Given the description of an element on the screen output the (x, y) to click on. 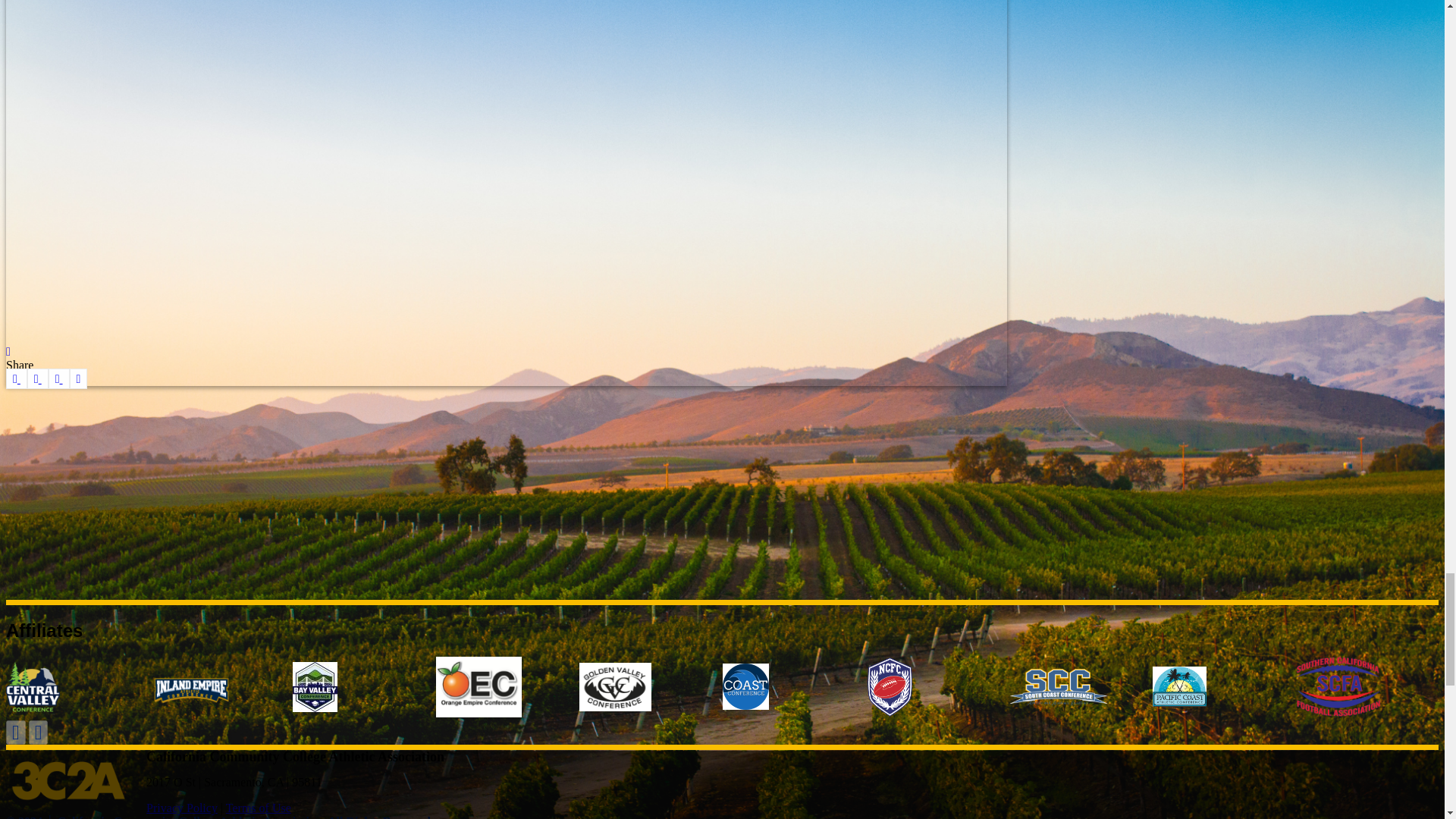
Print (78, 378)
3rd party ad content (721, 493)
